Given the description of an element on the screen output the (x, y) to click on. 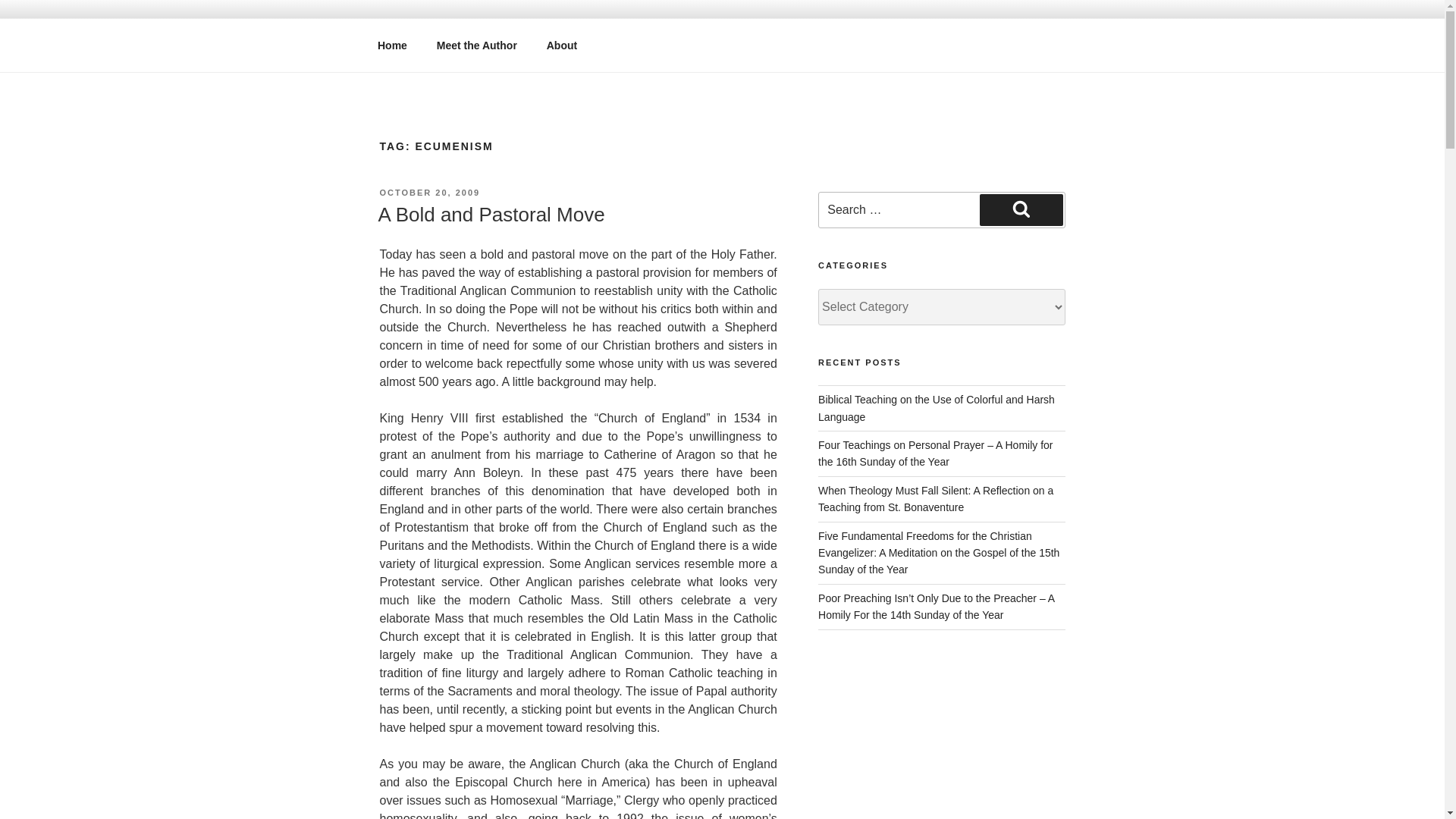
Meet the Author (476, 45)
OCTOBER 20, 2009 (429, 192)
Biblical Teaching on the Use of Colorful and Harsh Language (936, 407)
Search (1020, 210)
Home (392, 45)
A Bold and Pastoral Move (490, 214)
COMMUNITY IN MISSION (563, 52)
About (560, 45)
